Given the description of an element on the screen output the (x, y) to click on. 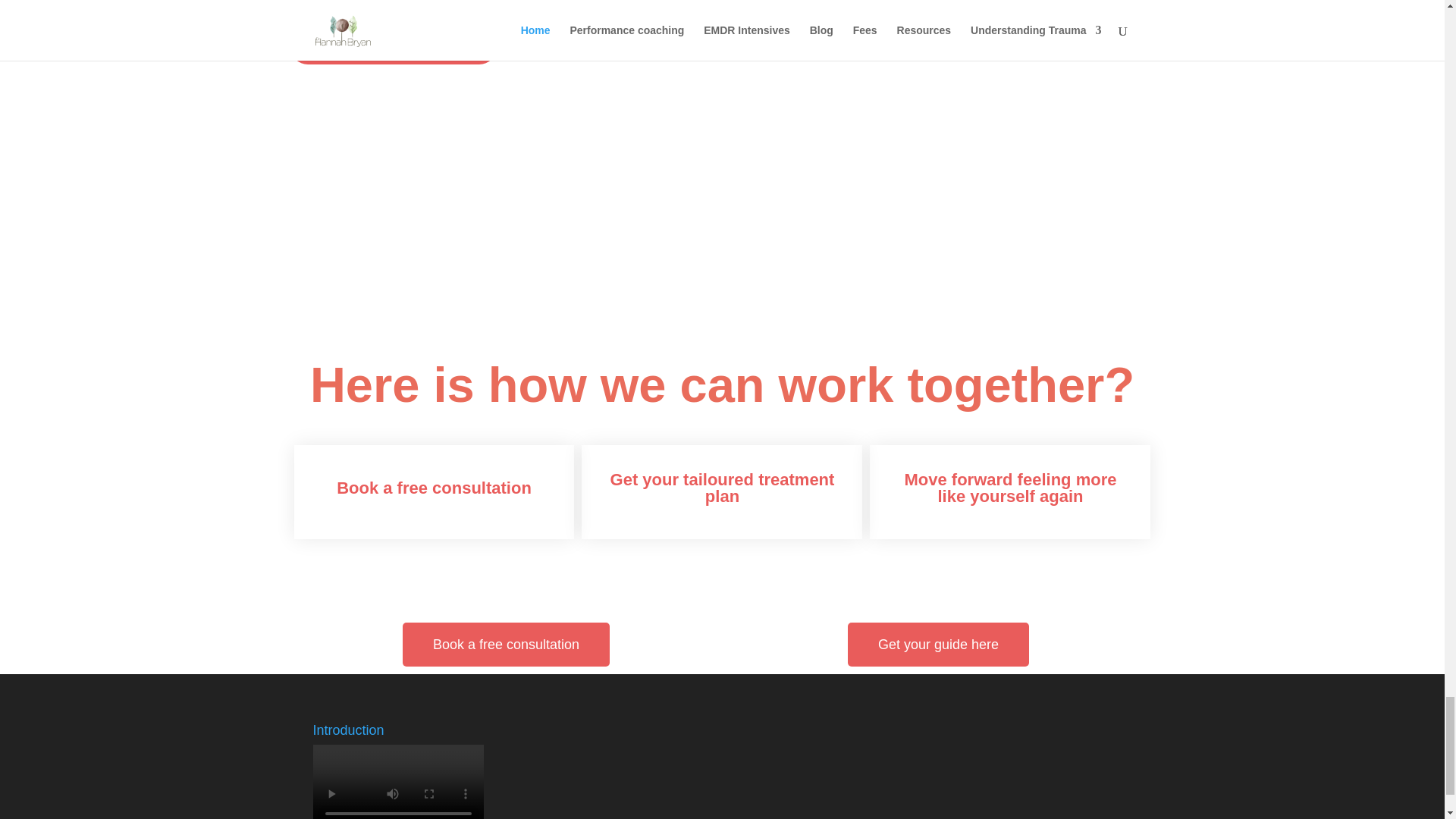
Book a free consultation (506, 644)
Get your guide here (938, 644)
Book a free Consultation (392, 46)
